Given the description of an element on the screen output the (x, y) to click on. 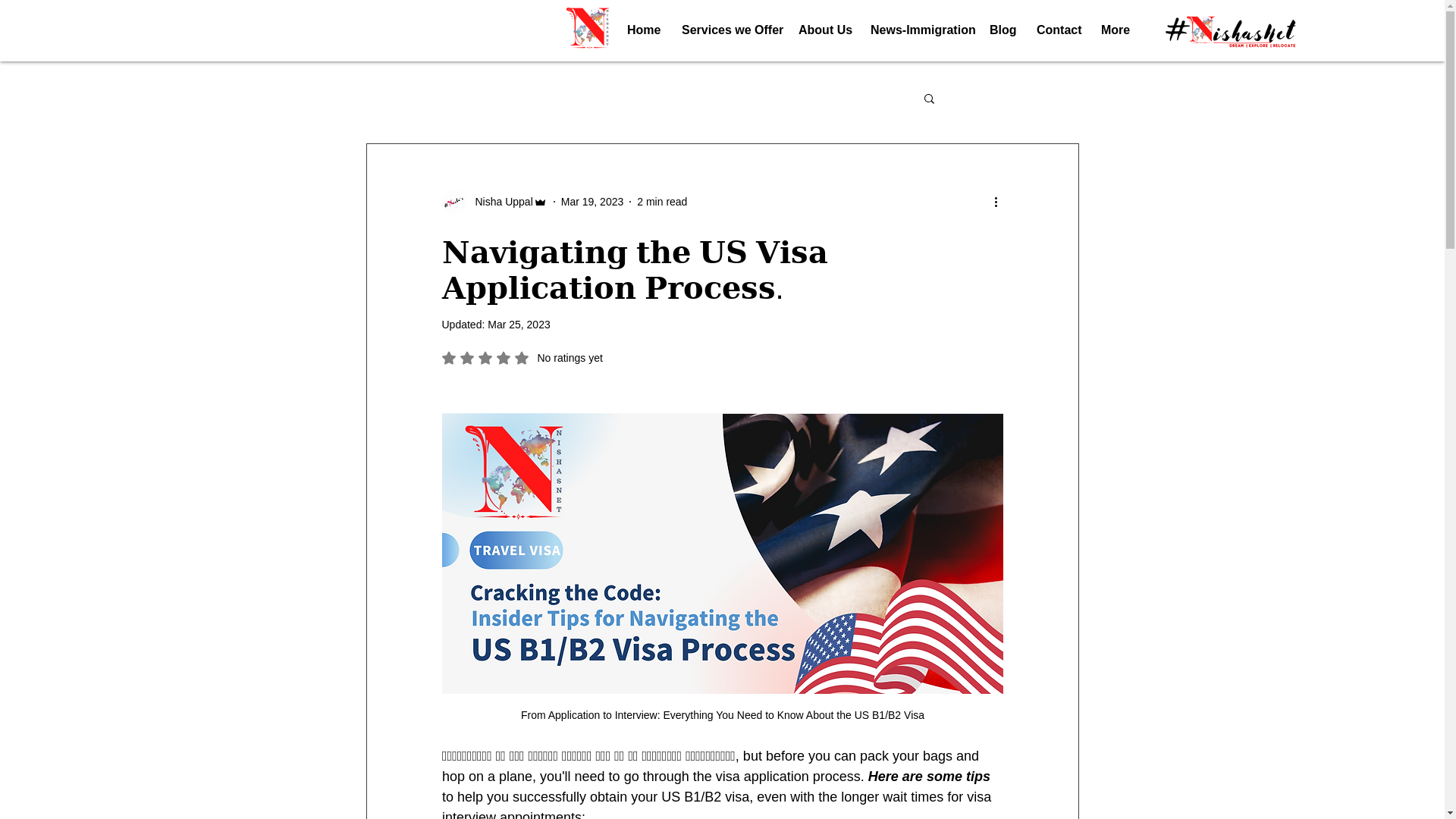
Home (642, 29)
Nisha Uppal (494, 201)
Nisha Uppal (498, 201)
2 min read (662, 201)
News-Immigration (918, 29)
Services we Offer (728, 29)
Mar 25, 2023 (518, 324)
Contact (521, 357)
Mar 19, 2023 (1057, 29)
About Us (592, 201)
Blog (823, 29)
